Given the description of an element on the screen output the (x, y) to click on. 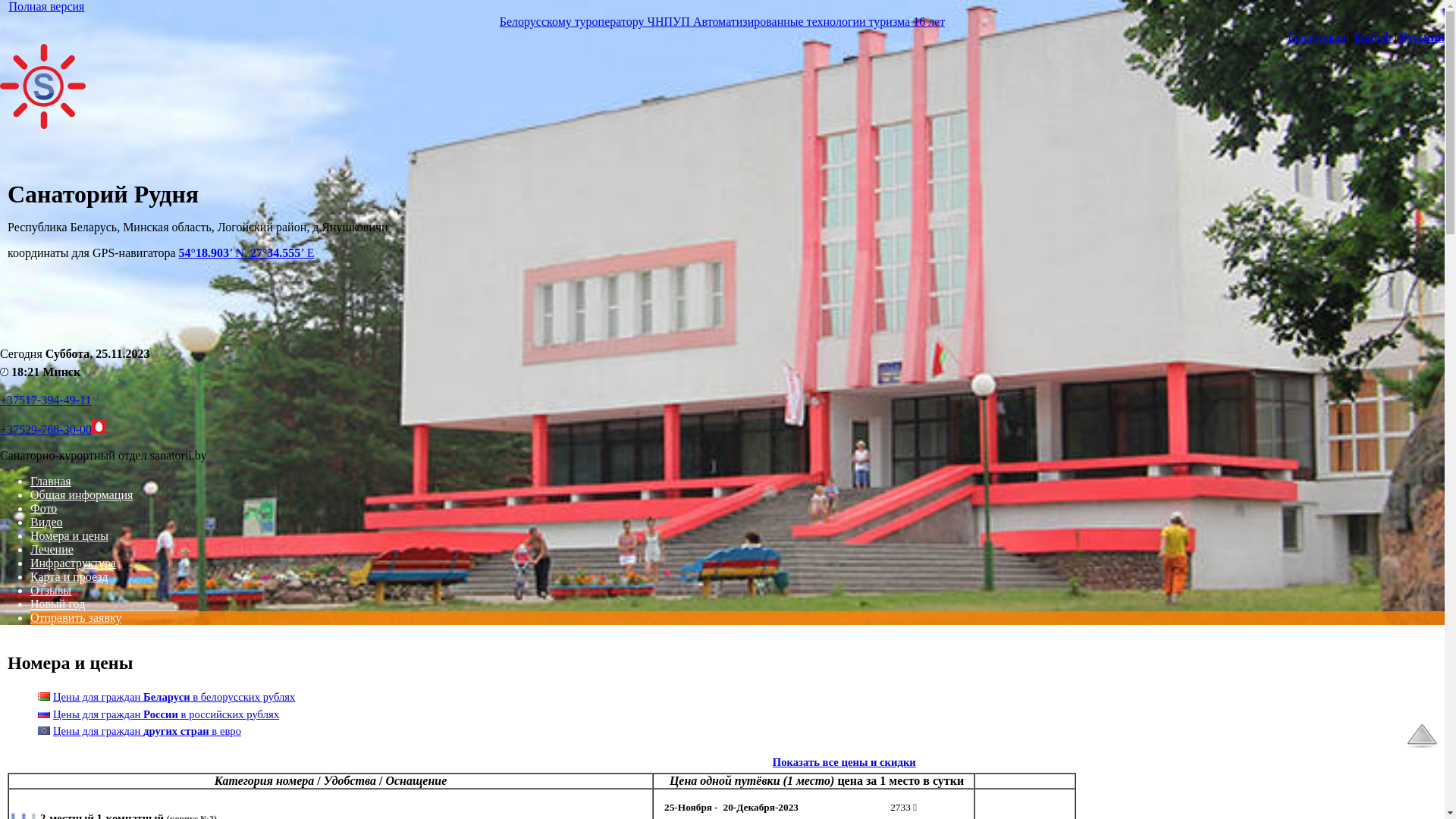
+37517-394-49-11 Element type: text (45, 399)
English Element type: text (1372, 36)
+37529-768-30-00 Element type: text (45, 429)
